Given the description of an element on the screen output the (x, y) to click on. 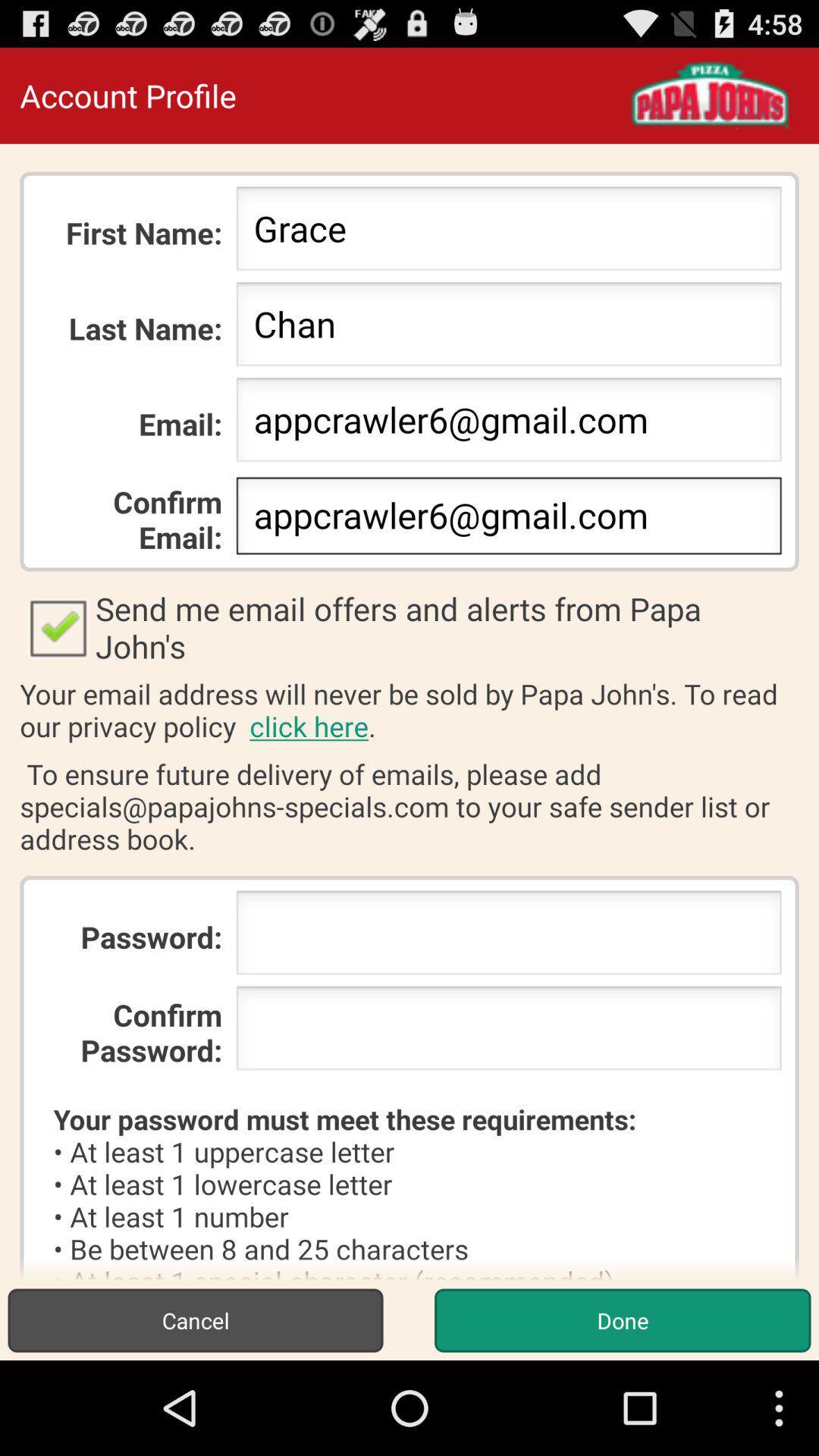
press the button next to the cancel icon (622, 1320)
